Given the description of an element on the screen output the (x, y) to click on. 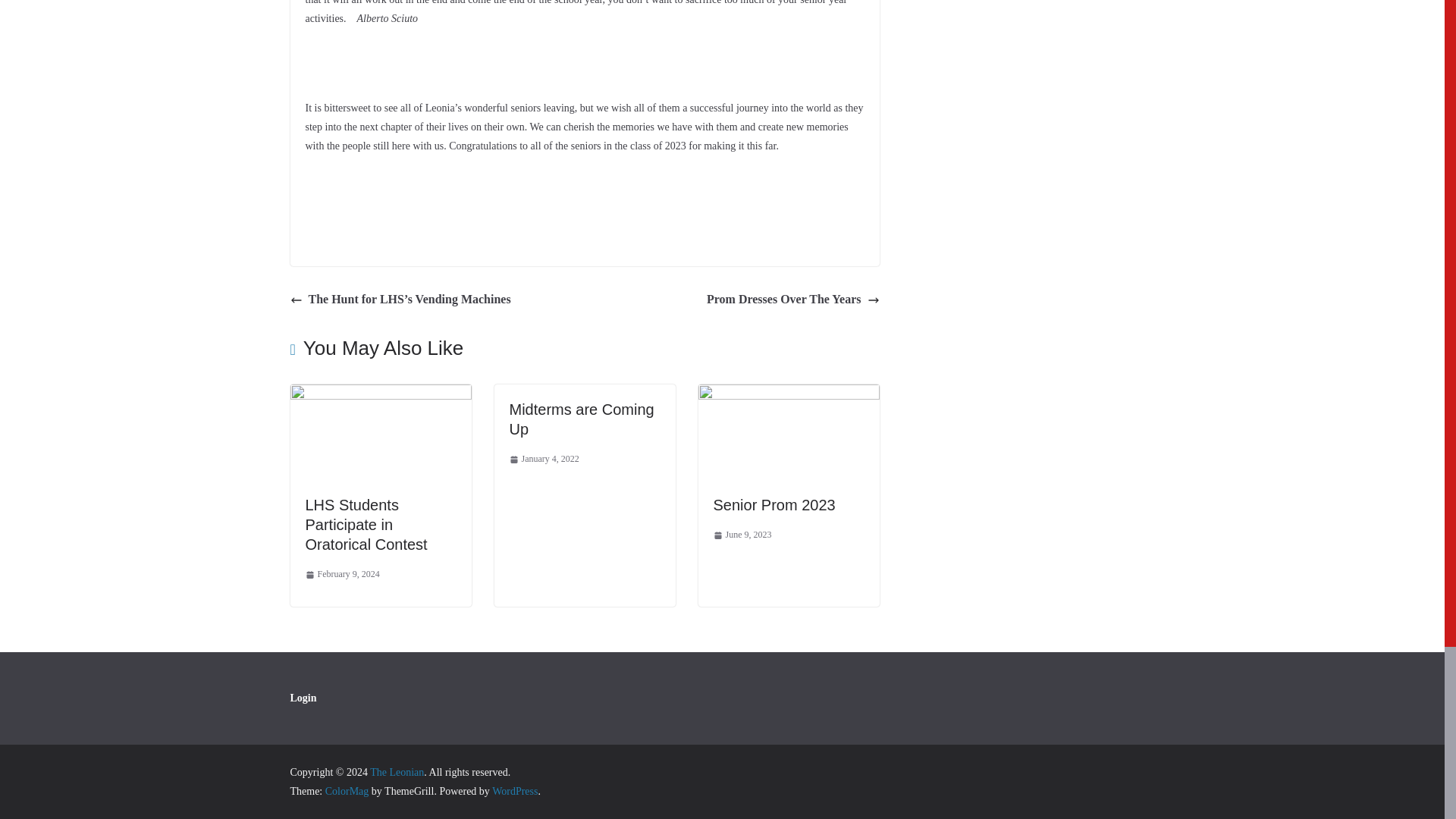
Midterms are Coming Up (581, 419)
3:42 pm (341, 574)
LHS Students Participate in Oratorical Contest (379, 394)
LHS Students Participate in Oratorical Contest (365, 524)
June 9, 2023 (742, 535)
Login (302, 697)
Prom Dresses Over The Years (792, 300)
Senior Prom 2023 (773, 504)
Senior Prom 2023 (788, 394)
February 9, 2024 (341, 574)
